Given the description of an element on the screen output the (x, y) to click on. 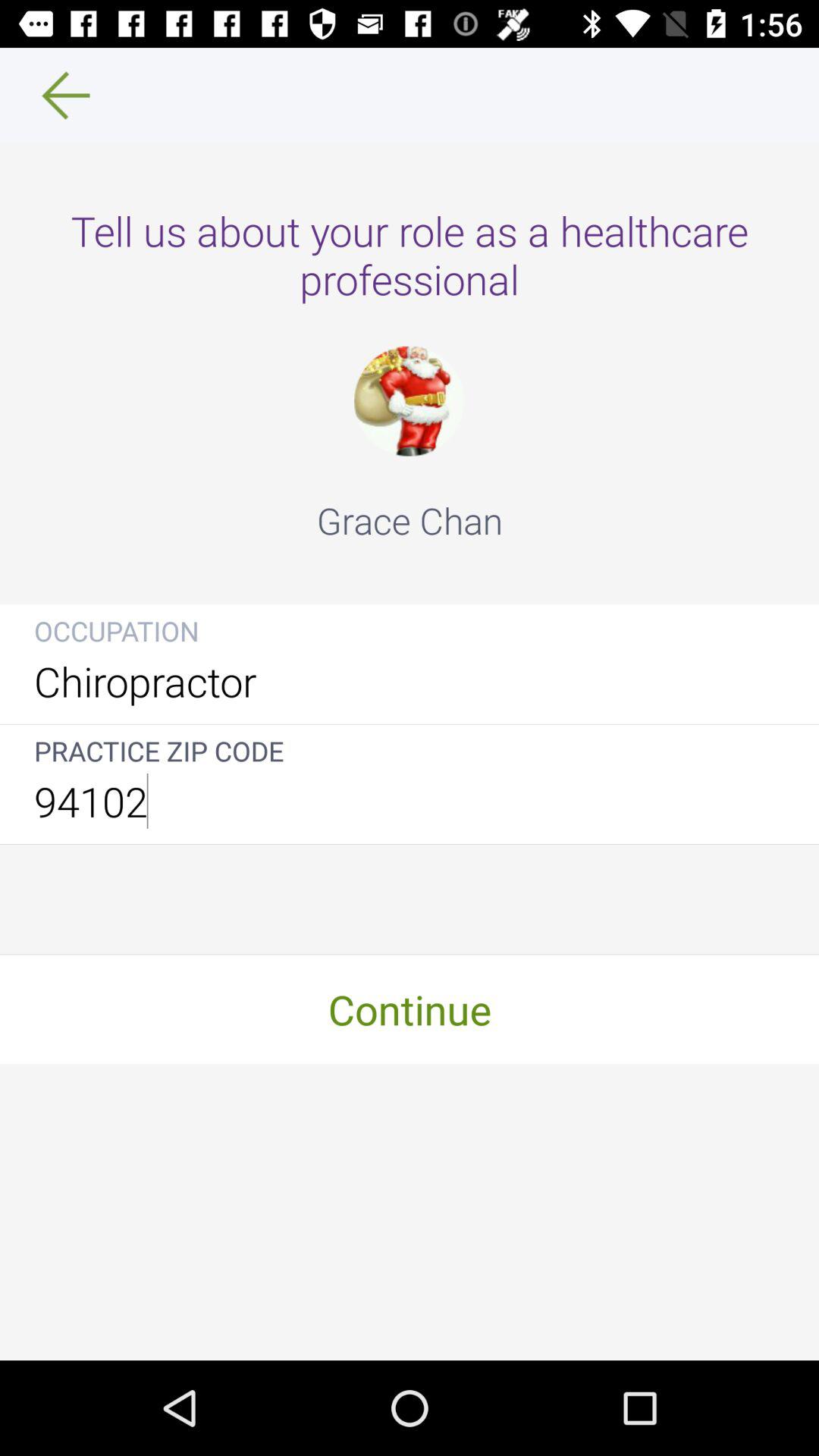
flip to continue (409, 1009)
